Given the description of an element on the screen output the (x, y) to click on. 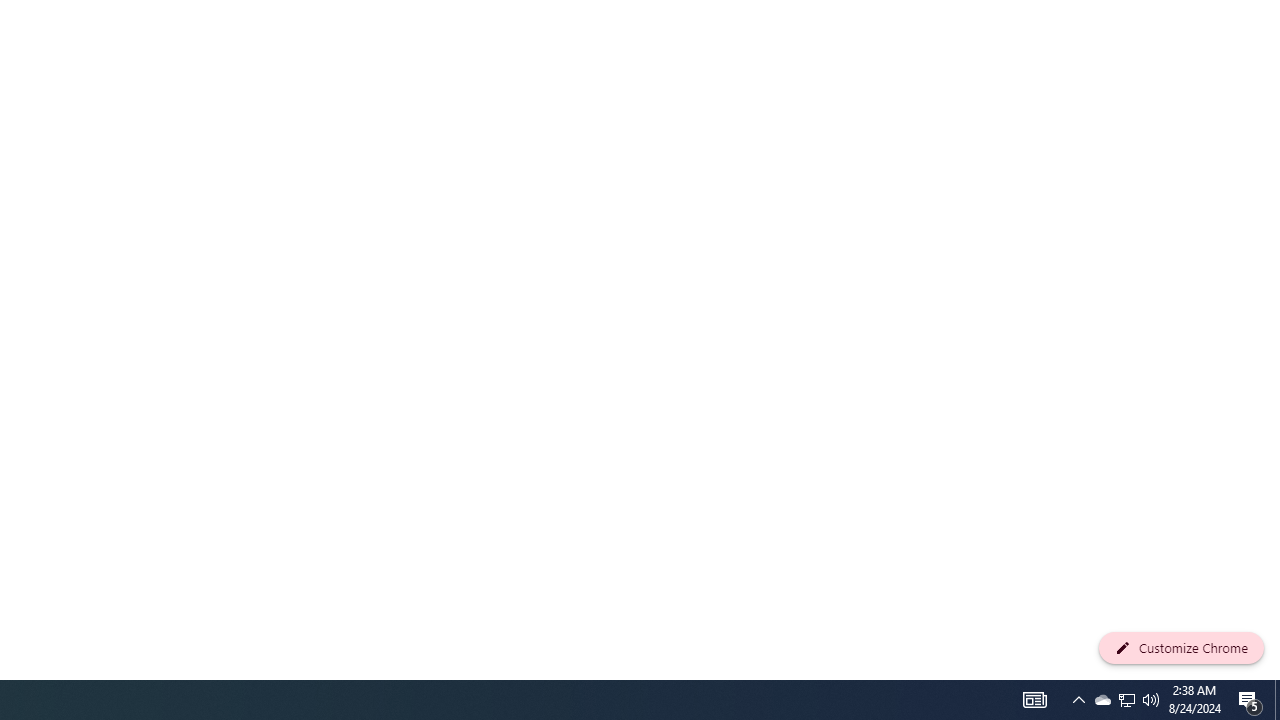
Customize Chrome (1181, 647)
